Given the description of an element on the screen output the (x, y) to click on. 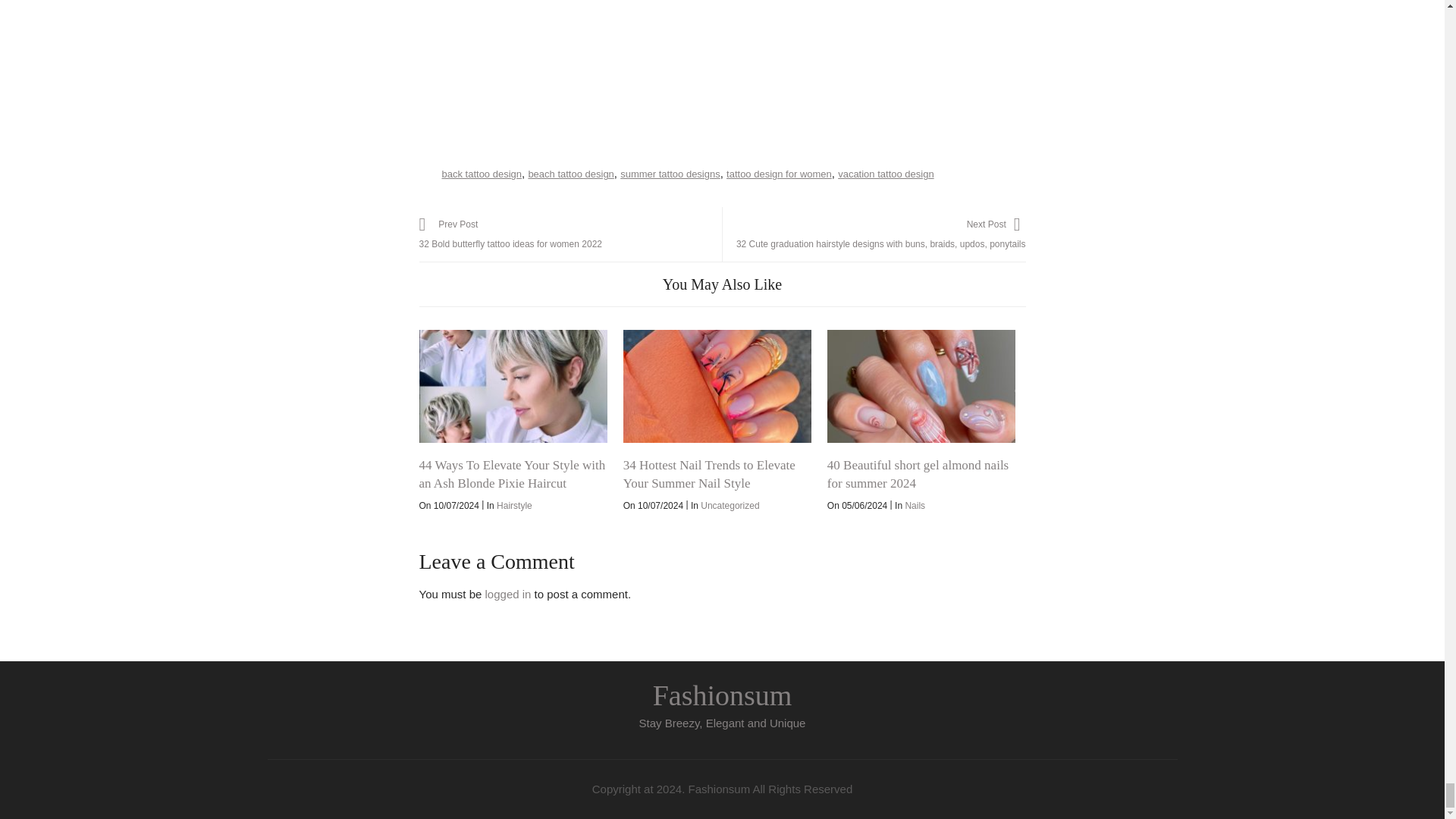
34 Hottest Nail Trends to Elevate Your Summer Nail Style (708, 473)
40 Beautiful short gel almond nails for summer 2024 (920, 386)
summer tattoo designs (670, 173)
Nails (914, 505)
Uncategorized (729, 505)
back tattoo design (481, 173)
beach tattoo design (569, 234)
tattoo design for women (569, 173)
logged in (778, 173)
Fashionsum (507, 594)
vacation tattoo design (722, 695)
Hairstyle (885, 173)
